Given the description of an element on the screen output the (x, y) to click on. 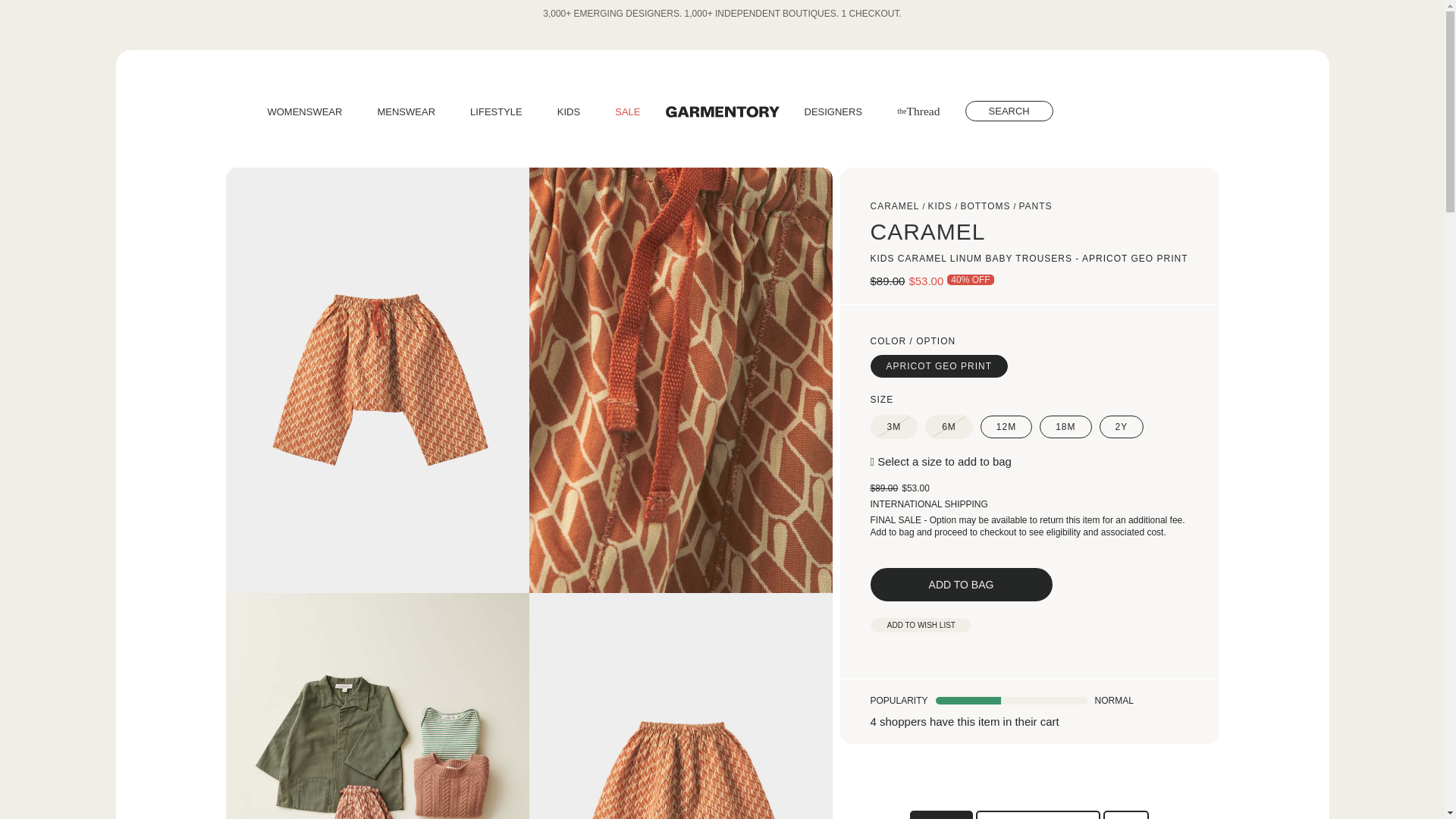
Add to bag (961, 584)
